Given the description of an element on the screen output the (x, y) to click on. 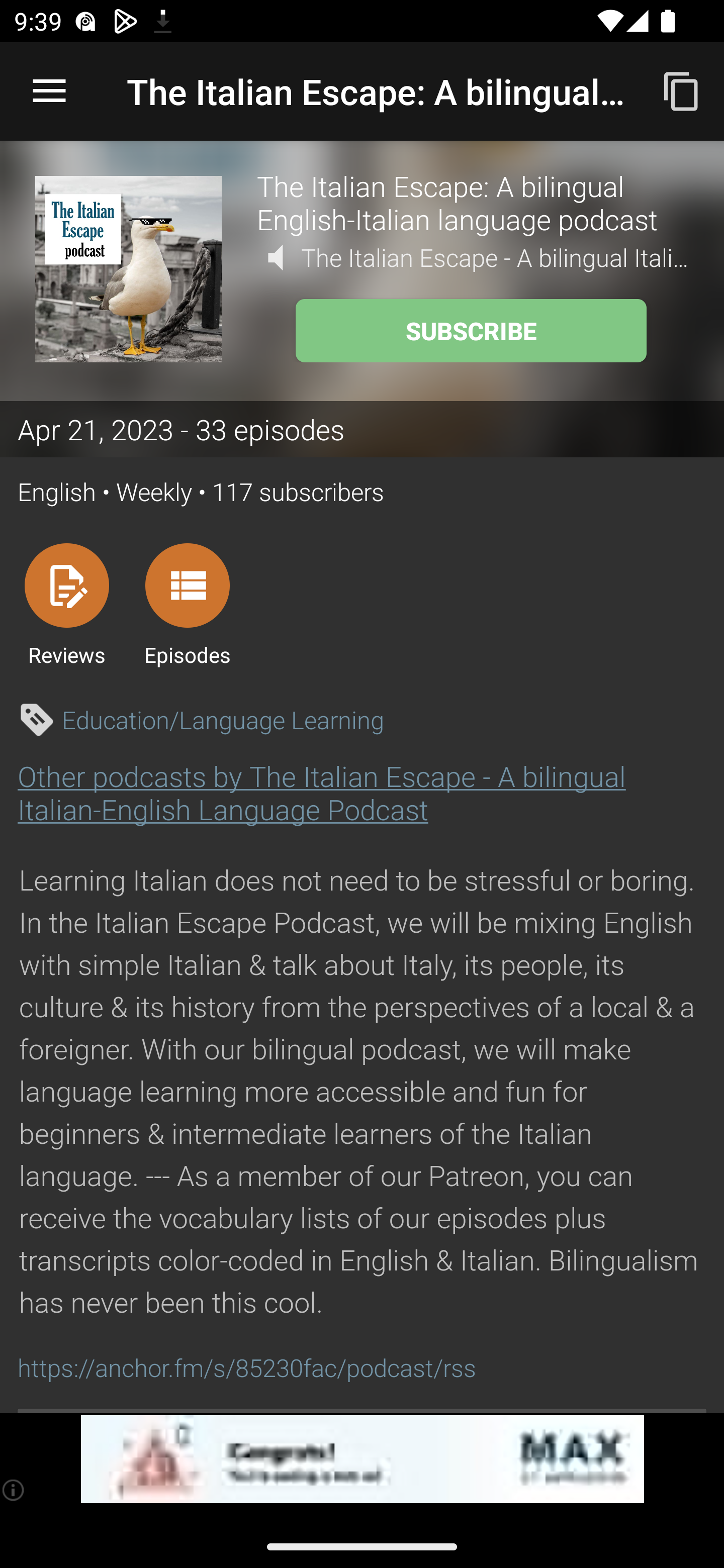
Open navigation sidebar (49, 91)
Copy feed url to clipboard (681, 90)
SUBSCRIBE (470, 330)
Reviews (66, 604)
Episodes (187, 604)
app-monetization (362, 1459)
(i) (14, 1489)
